Given the description of an element on the screen output the (x, y) to click on. 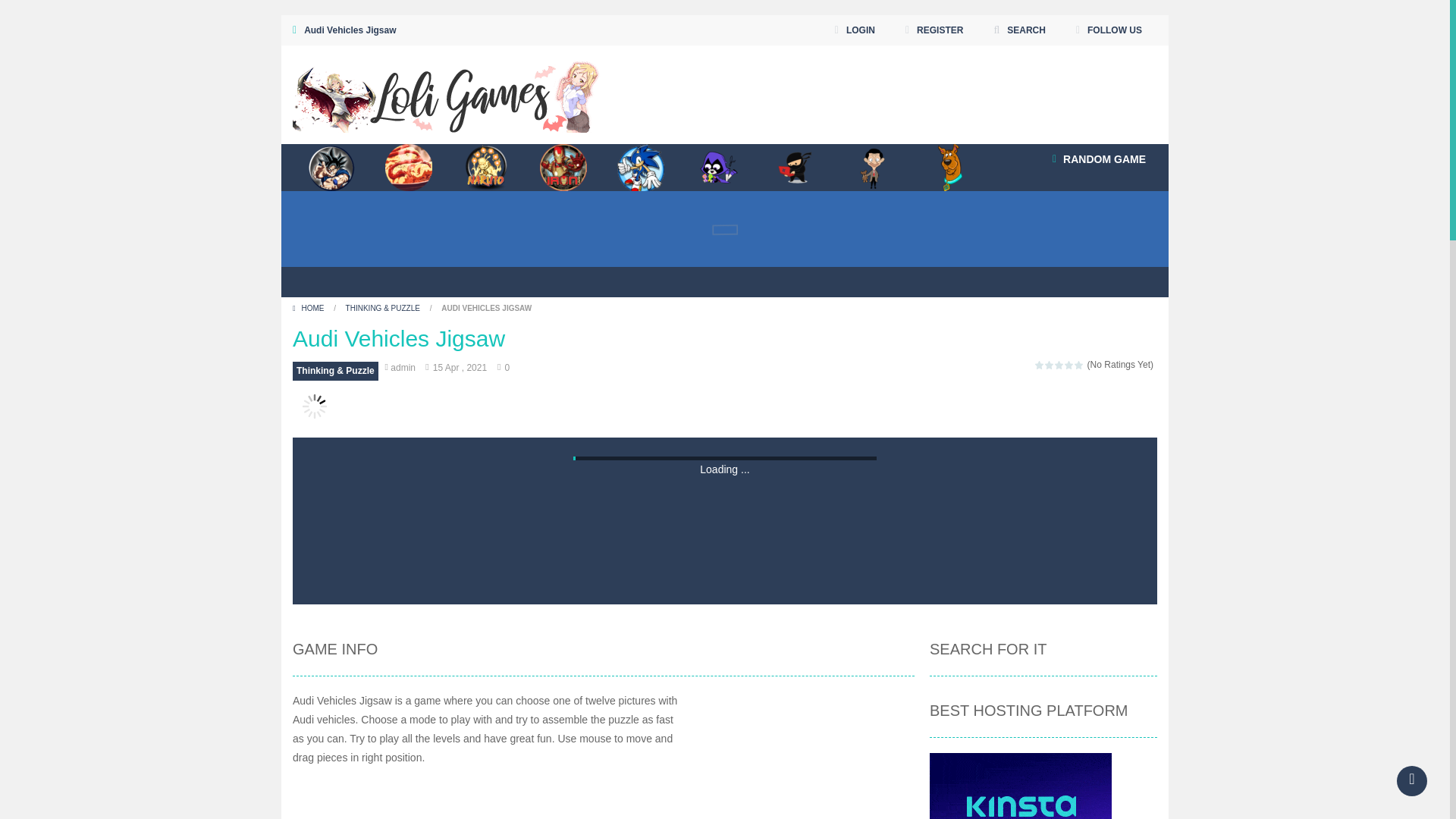
Loli Games (446, 94)
Play a random game! (1099, 159)
LOGIN (855, 30)
RANDOM GAME (1099, 159)
REGISTER (933, 30)
FOLLOW US (1108, 30)
Loli Games (446, 93)
SEARCH (1019, 30)
